Given the description of an element on the screen output the (x, y) to click on. 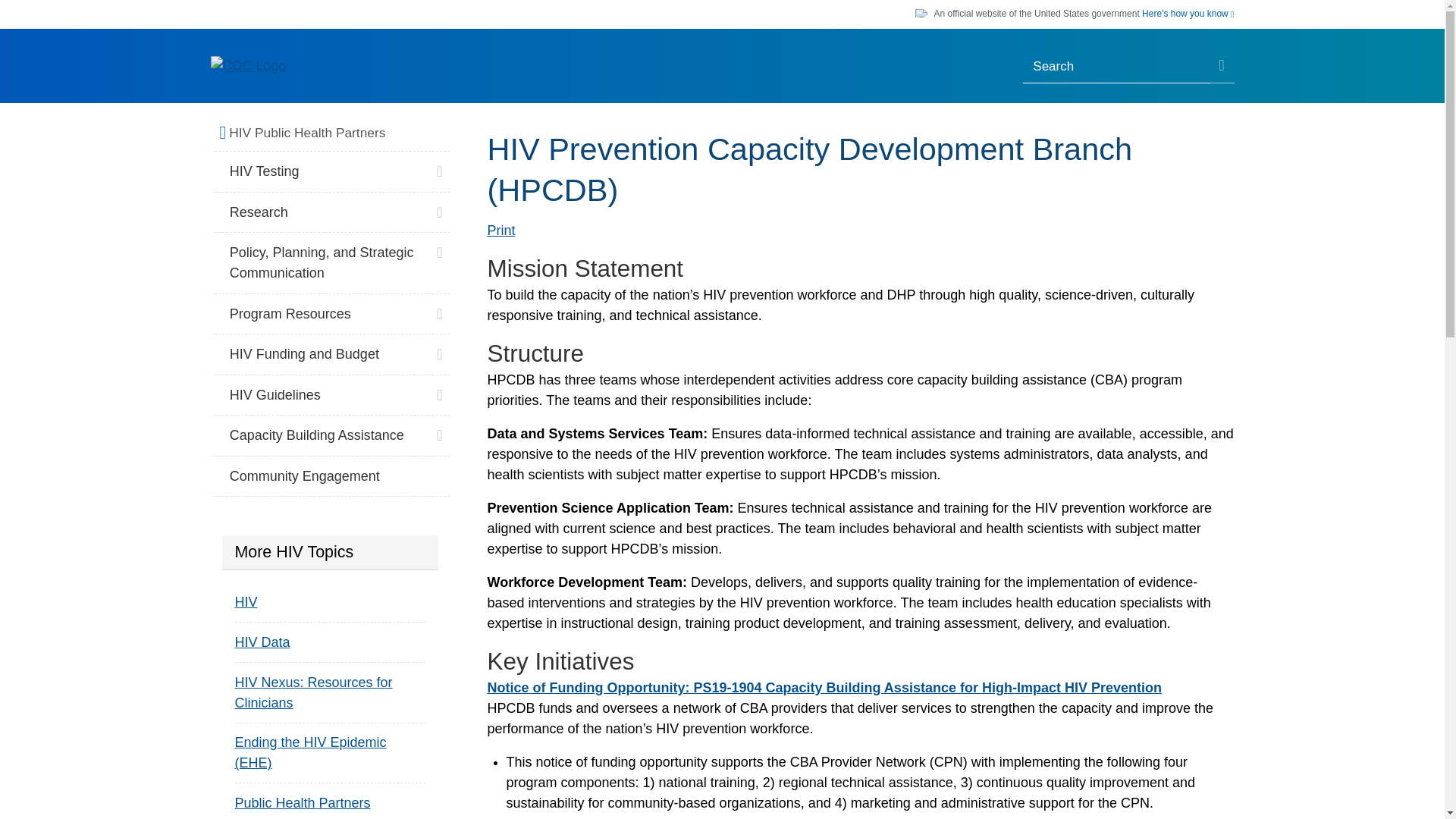
Research (330, 212)
plus icon (437, 167)
Here's how you know (1187, 14)
Print (500, 230)
HIV Public Health Partners (335, 133)
plus icon (437, 208)
HIV Testing (330, 171)
